Given the description of an element on the screen output the (x, y) to click on. 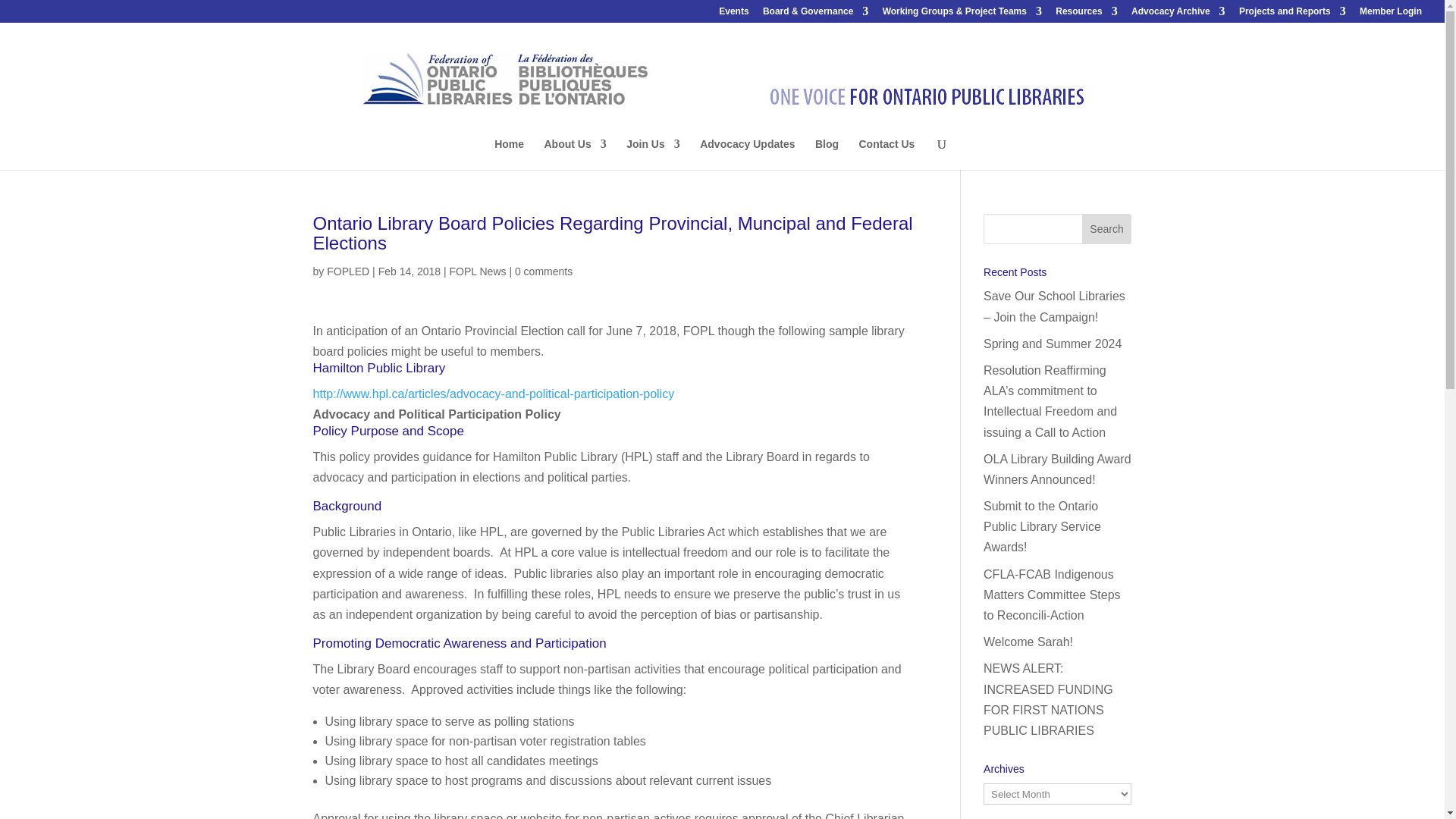
Resources (1085, 14)
Advocacy Archive (1178, 14)
Search (1106, 228)
Posts by FOPLED (347, 271)
Events (733, 14)
Projects and Reports (1292, 14)
